Given the description of an element on the screen output the (x, y) to click on. 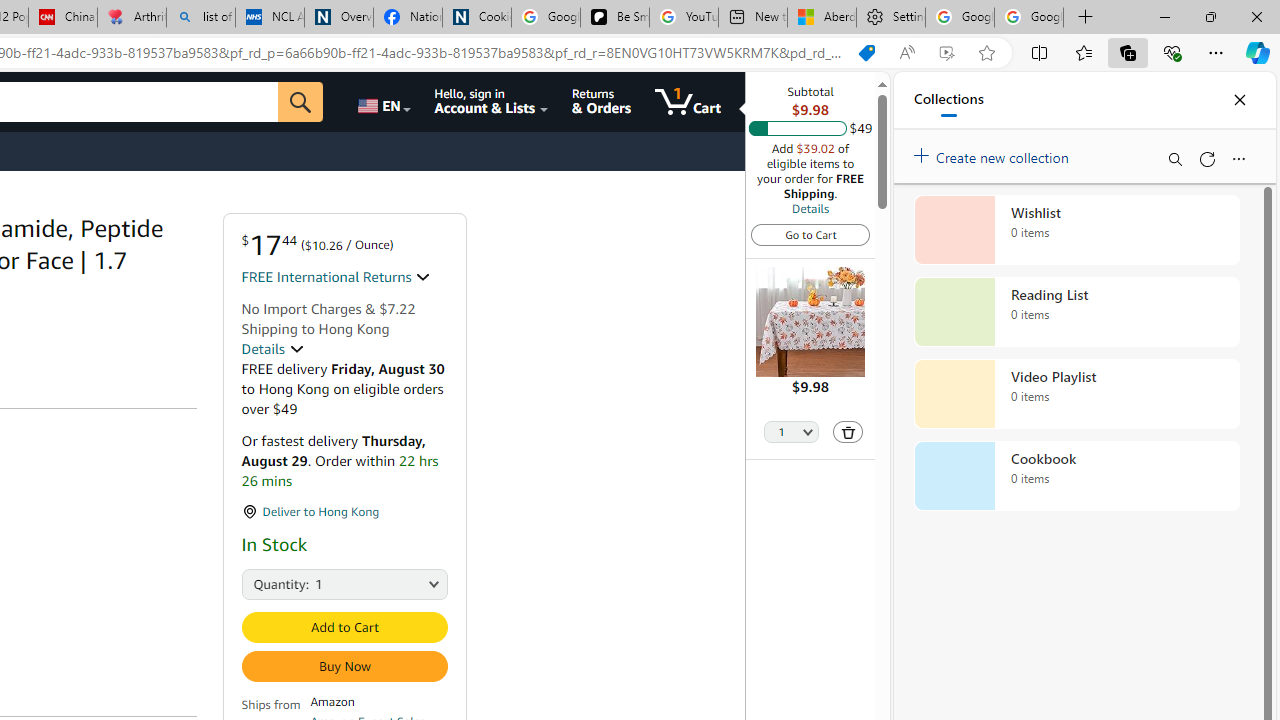
Cookbook collection, 0 items (1076, 475)
Cookies (476, 17)
NCL Adult Asthma Inhaler Choice Guideline (269, 17)
Reading List collection, 0 items (1076, 312)
Details (810, 208)
